Given the description of an element on the screen output the (x, y) to click on. 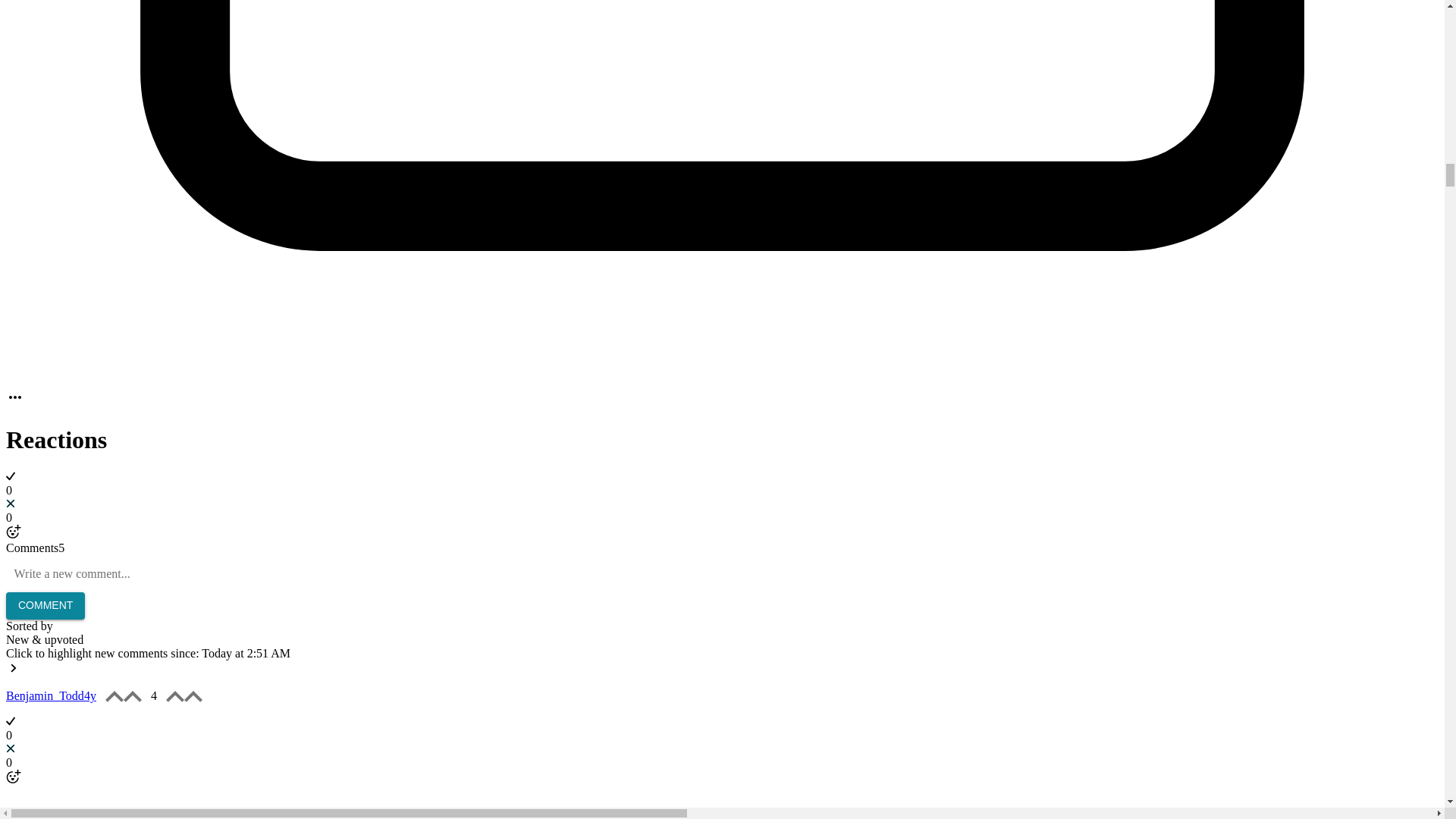
Today at 2:51 AM (245, 653)
COMMENT (44, 605)
4y (90, 695)
